Given the description of an element on the screen output the (x, y) to click on. 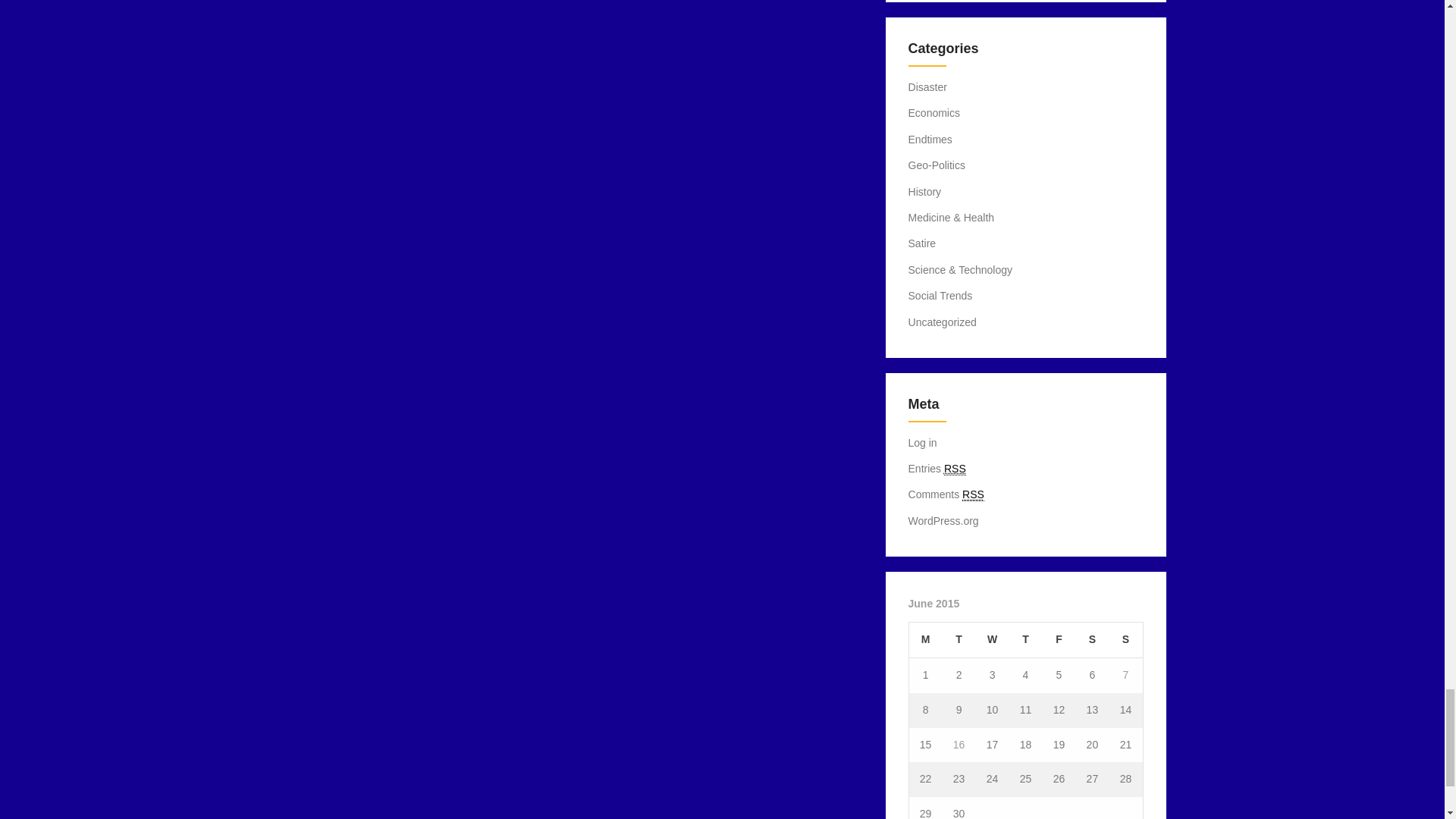
Tuesday (958, 639)
Sunday (1125, 639)
Thursday (1025, 639)
Wednesday (992, 639)
Friday (1058, 639)
Really Simple Syndication (973, 494)
Really Simple Syndication (954, 468)
Monday (925, 639)
Saturday (1091, 639)
